Given the description of an element on the screen output the (x, y) to click on. 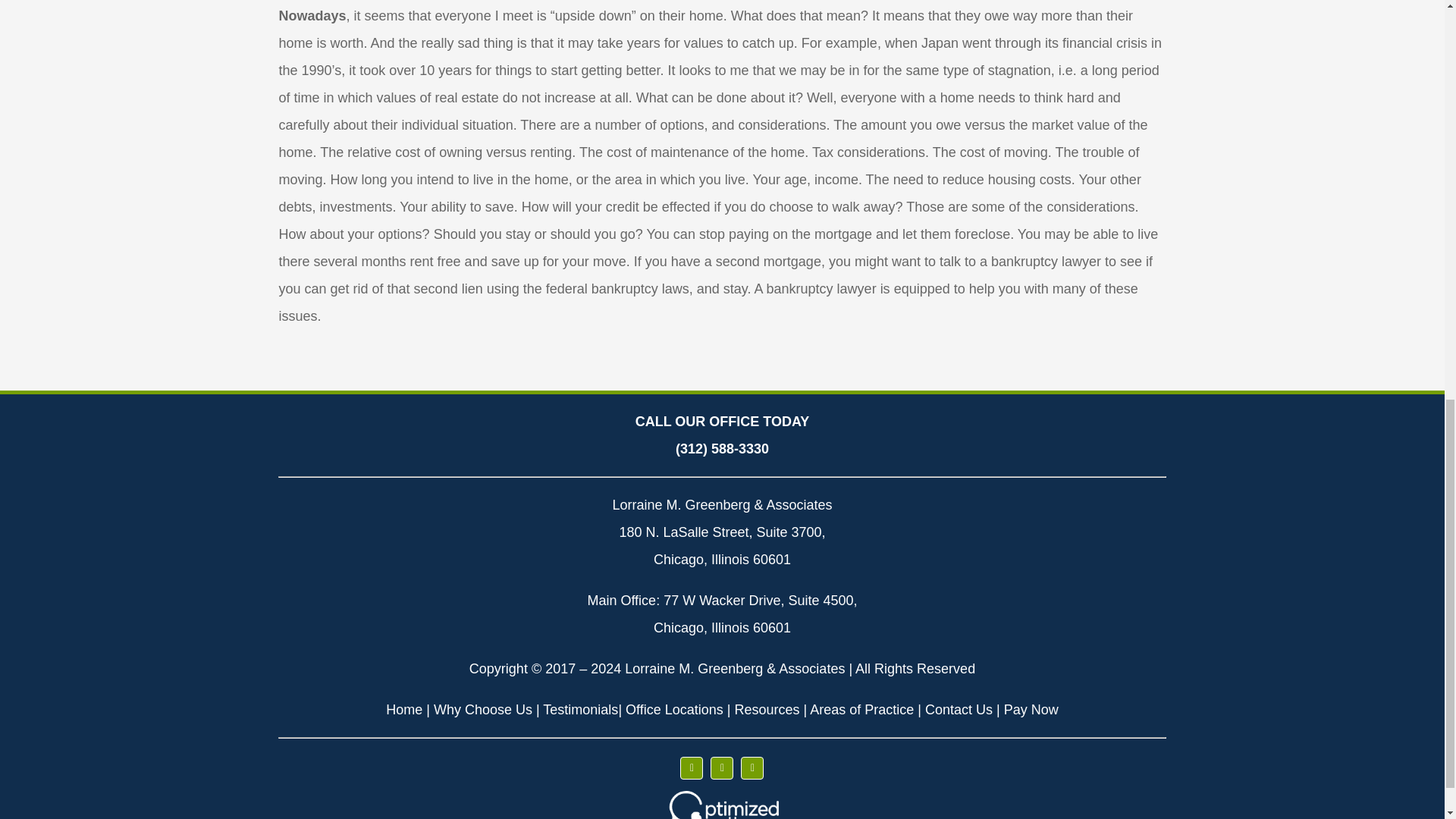
Twitter (721, 767)
Facebook (691, 767)
LinkedIn (751, 767)
